Given the description of an element on the screen output the (x, y) to click on. 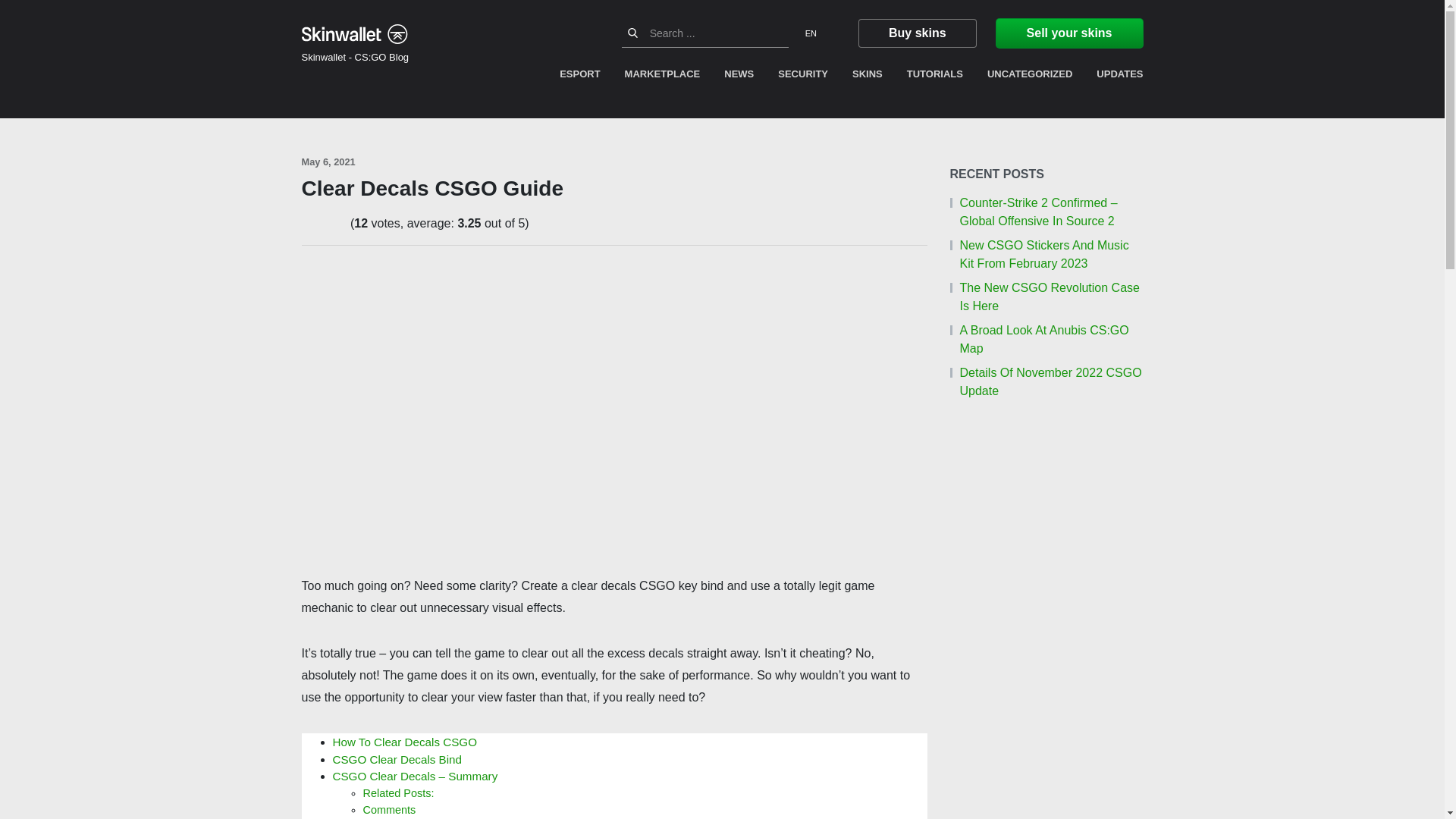
Related Posts: (397, 793)
NEWS (738, 73)
TUTORIALS (935, 73)
Comments (388, 809)
SECURITY (802, 73)
UPDATES (1113, 73)
EN (820, 33)
ESPORT (585, 73)
Sell your skins (1068, 33)
Buy skins (916, 33)
